Given the description of an element on the screen output the (x, y) to click on. 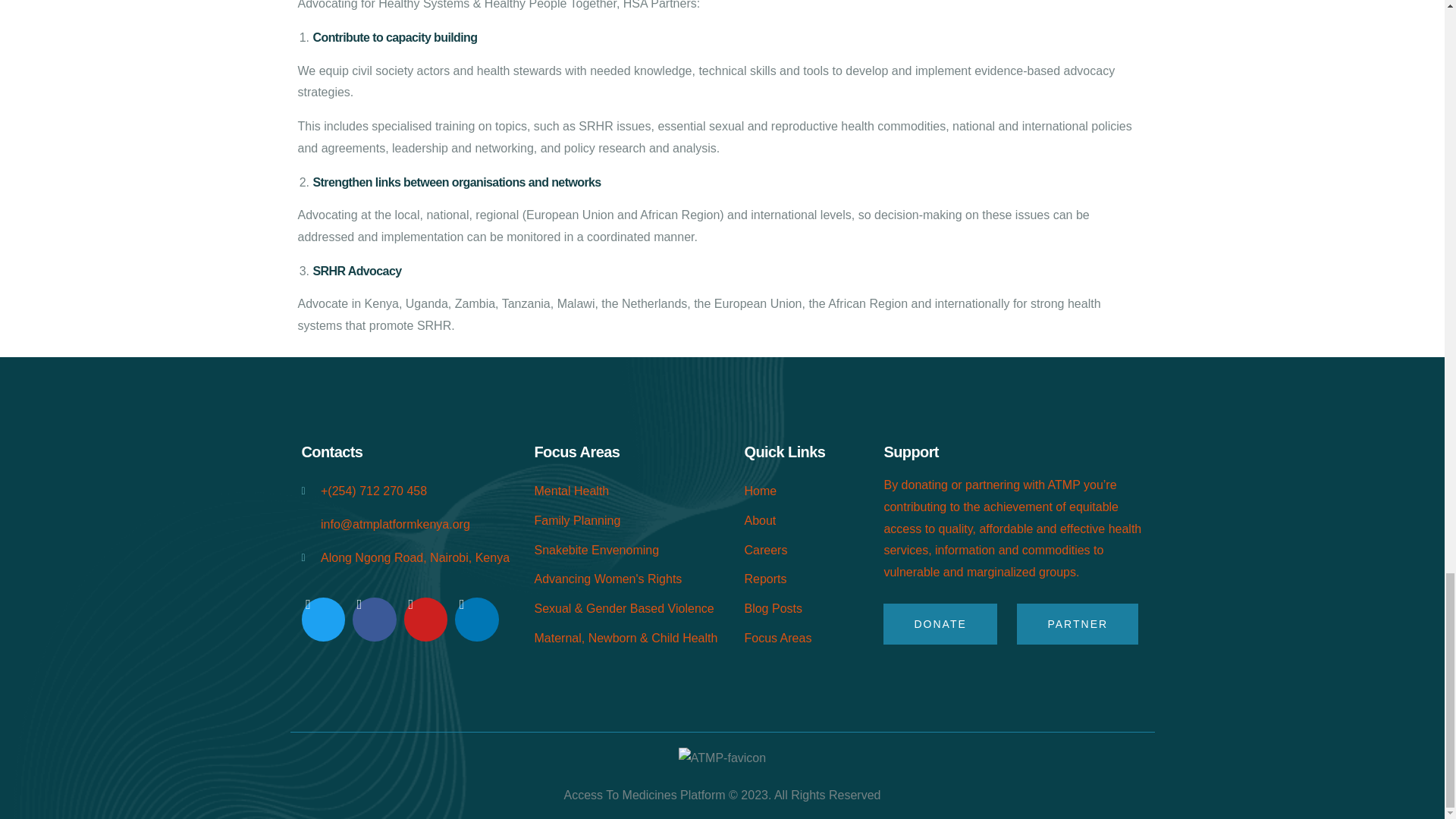
ATMP-favicon (721, 758)
